Given the description of an element on the screen output the (x, y) to click on. 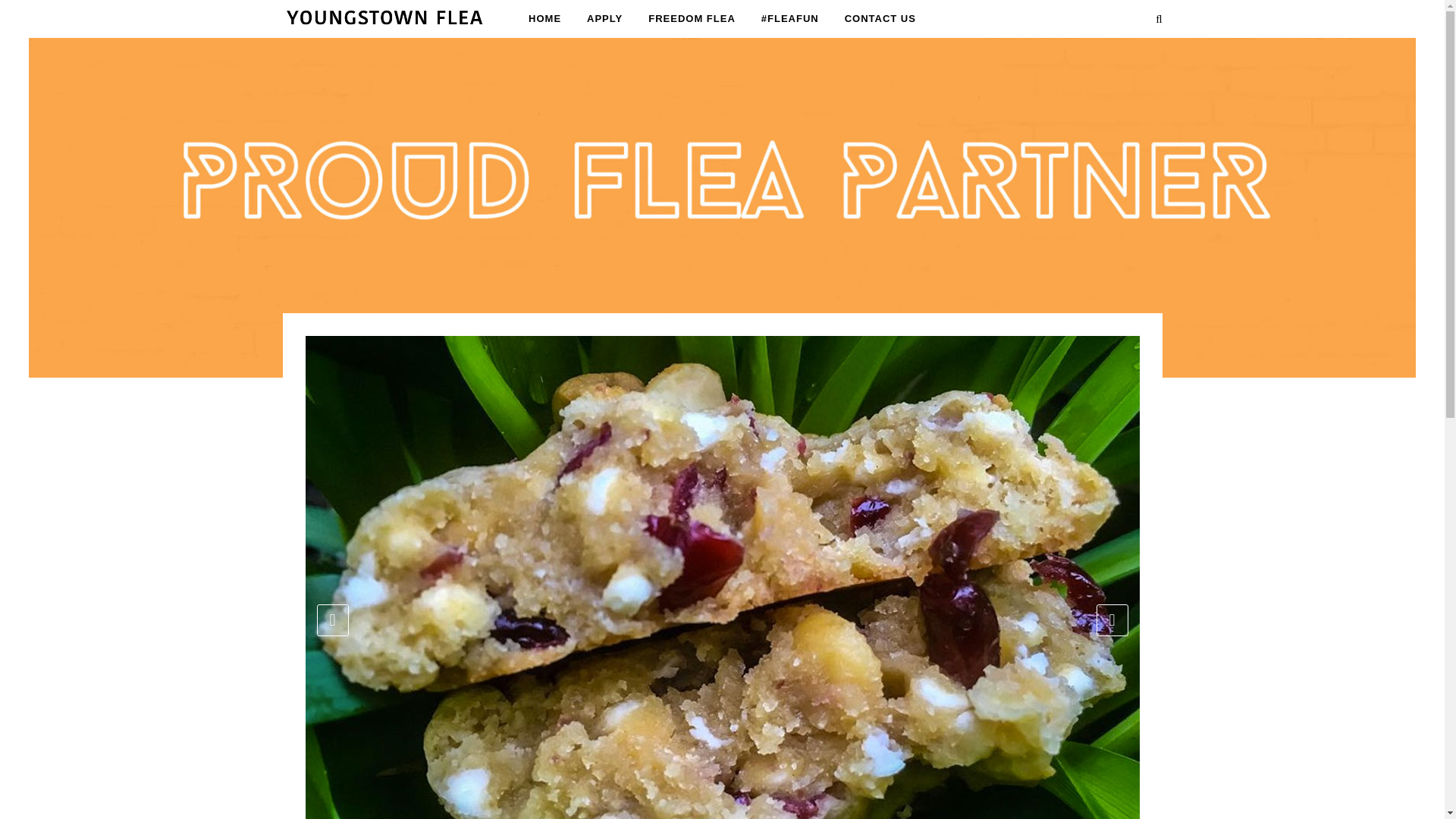
FREEDOM FLEA (691, 18)
CONTACT US (879, 18)
HOME (544, 18)
APPLY (603, 18)
